Given the description of an element on the screen output the (x, y) to click on. 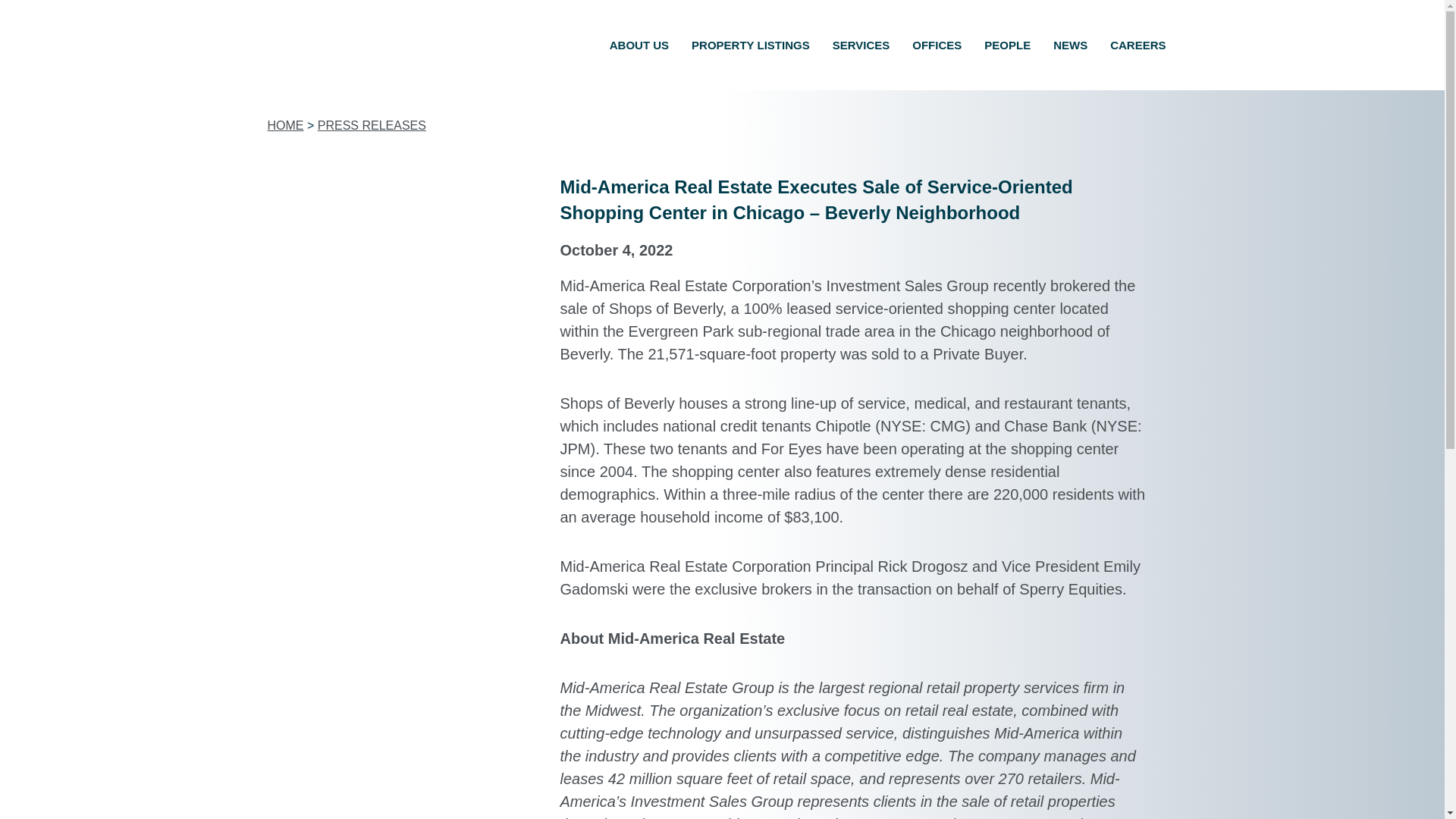
NEWS (1070, 45)
PEOPLE (1007, 45)
ABOUT US (638, 45)
OFFICES (936, 45)
SERVICES (861, 45)
PROPERTY LISTINGS (750, 45)
CAREERS (1137, 45)
